Given the description of an element on the screen output the (x, y) to click on. 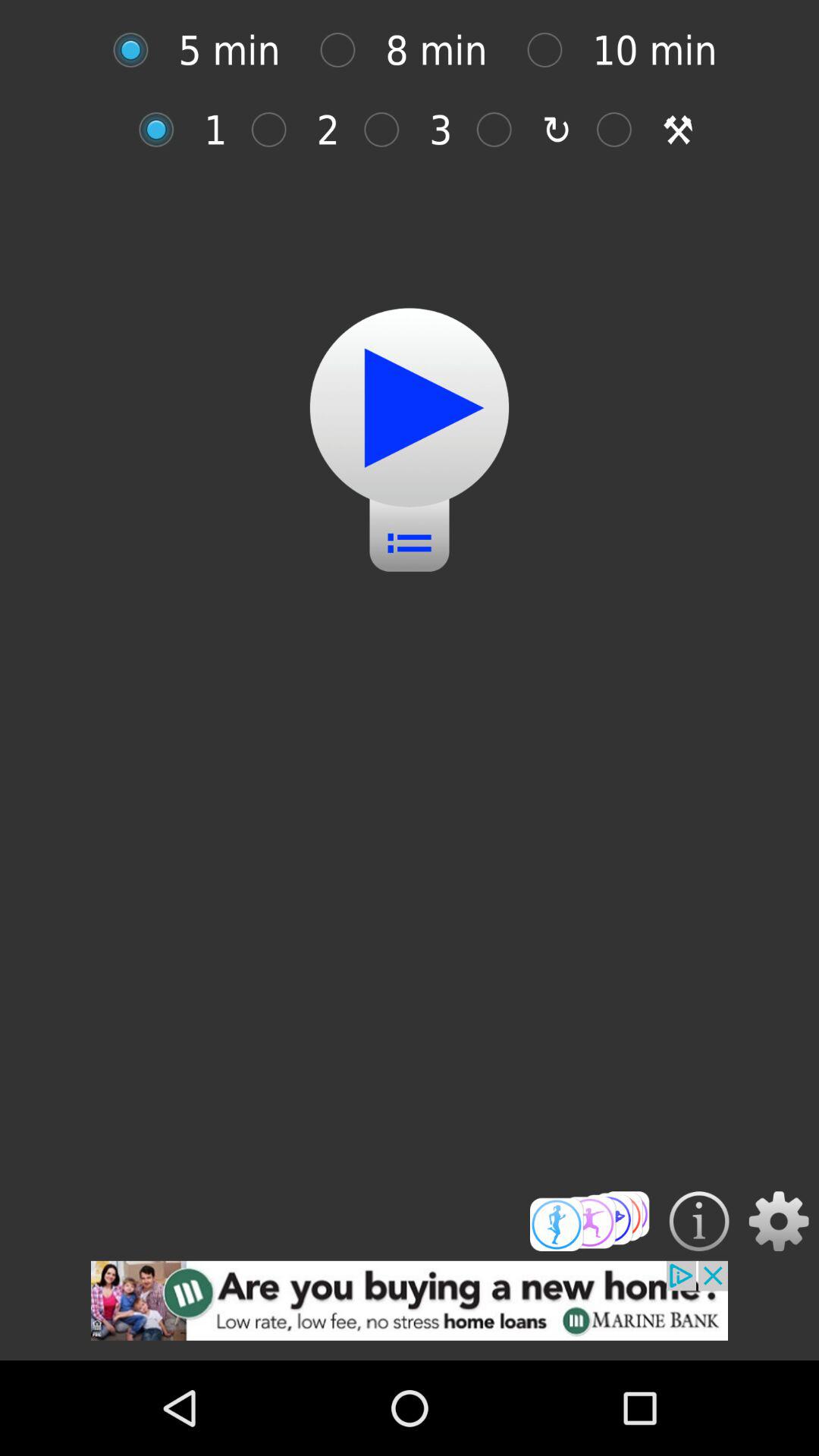
on (164, 129)
